Given the description of an element on the screen output the (x, y) to click on. 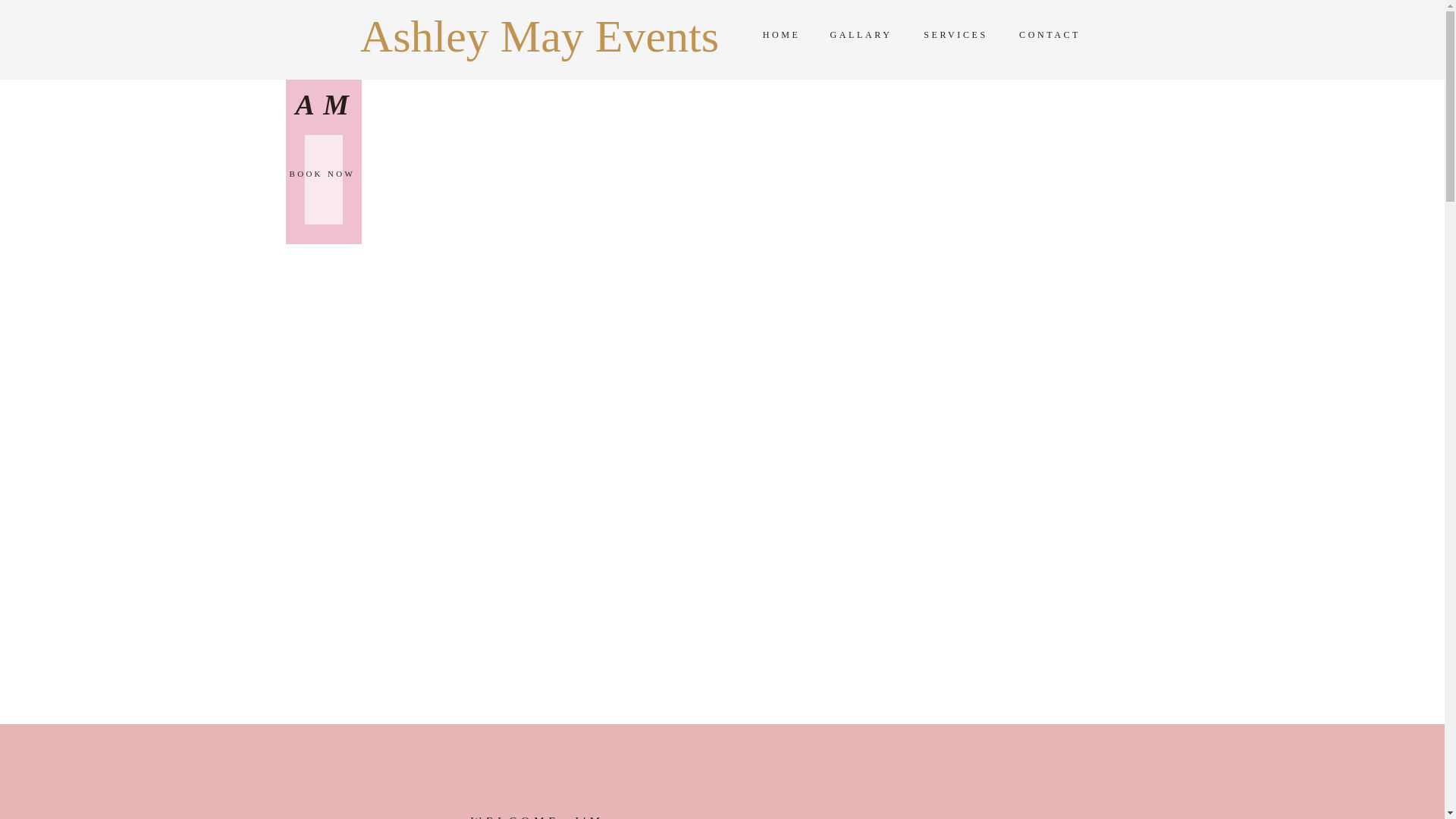
BOOK NOW (325, 176)
Ashley May Events (539, 25)
CONTACT (1050, 34)
SERVICES (955, 34)
GALLARY (860, 34)
HOME (780, 34)
